Given the description of an element on the screen output the (x, y) to click on. 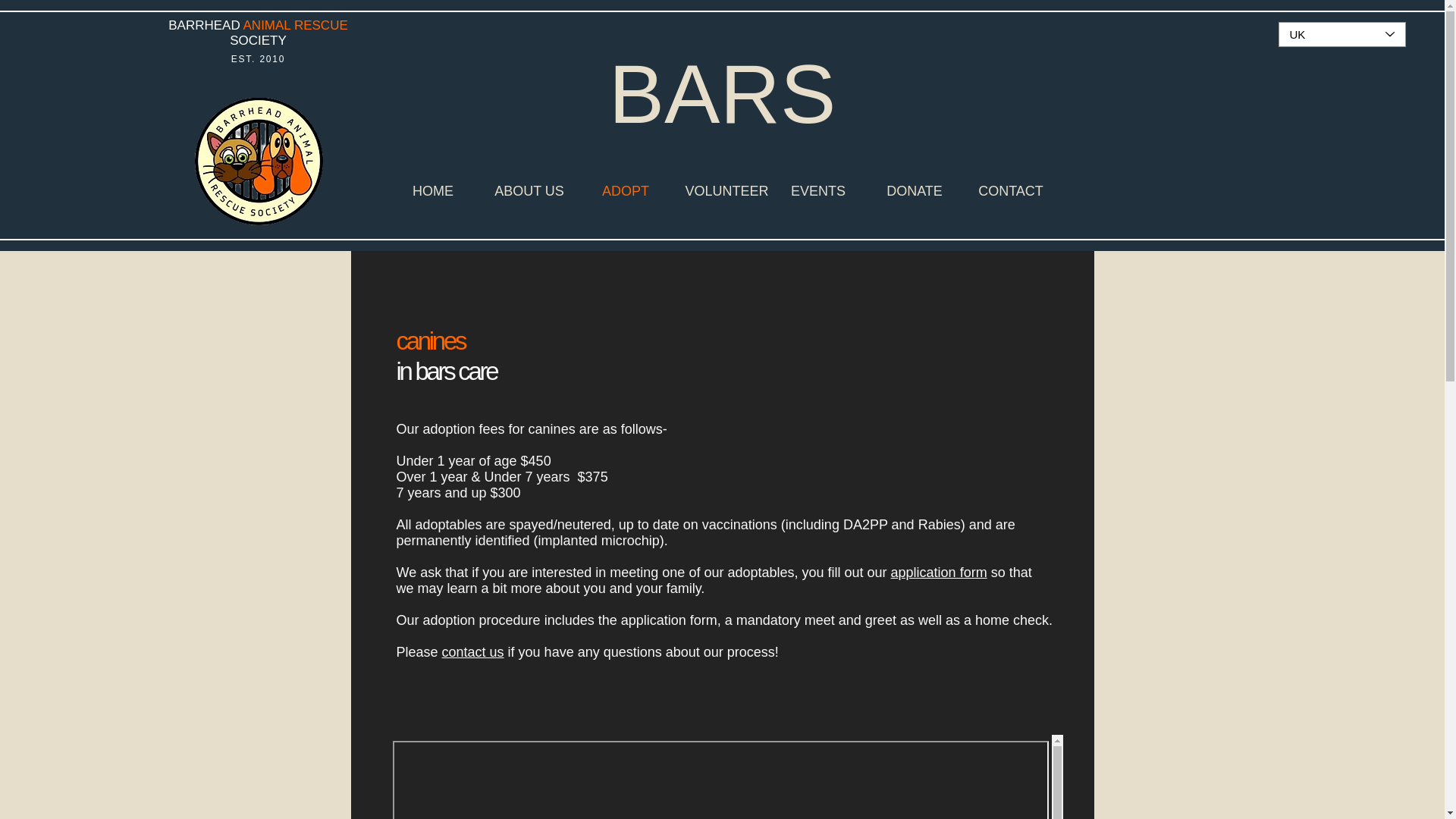
EST. 2010 (258, 59)
Embedded Content (724, 776)
EVENTS (818, 190)
DONATE (914, 190)
CONTACT (1010, 190)
ADOPT (626, 190)
contact us (472, 652)
application form (939, 572)
BARRHEAD ANIMAL RESCUE SOCIETY (257, 32)
VOLUNTEER (721, 190)
HOME (433, 190)
ABOUT US (528, 190)
